Given the description of an element on the screen output the (x, y) to click on. 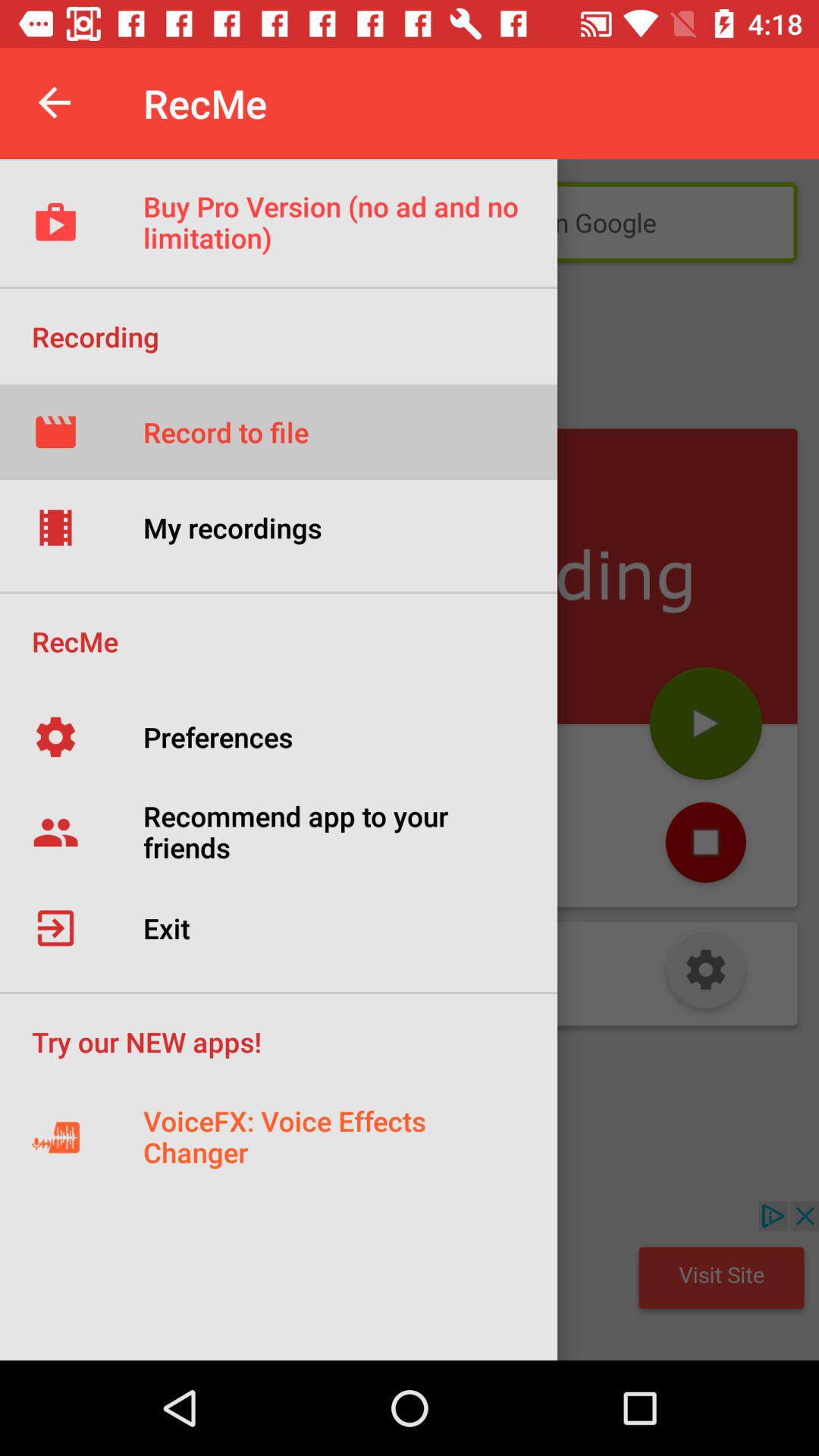
advertisement bar (409, 1280)
